Given the description of an element on the screen output the (x, y) to click on. 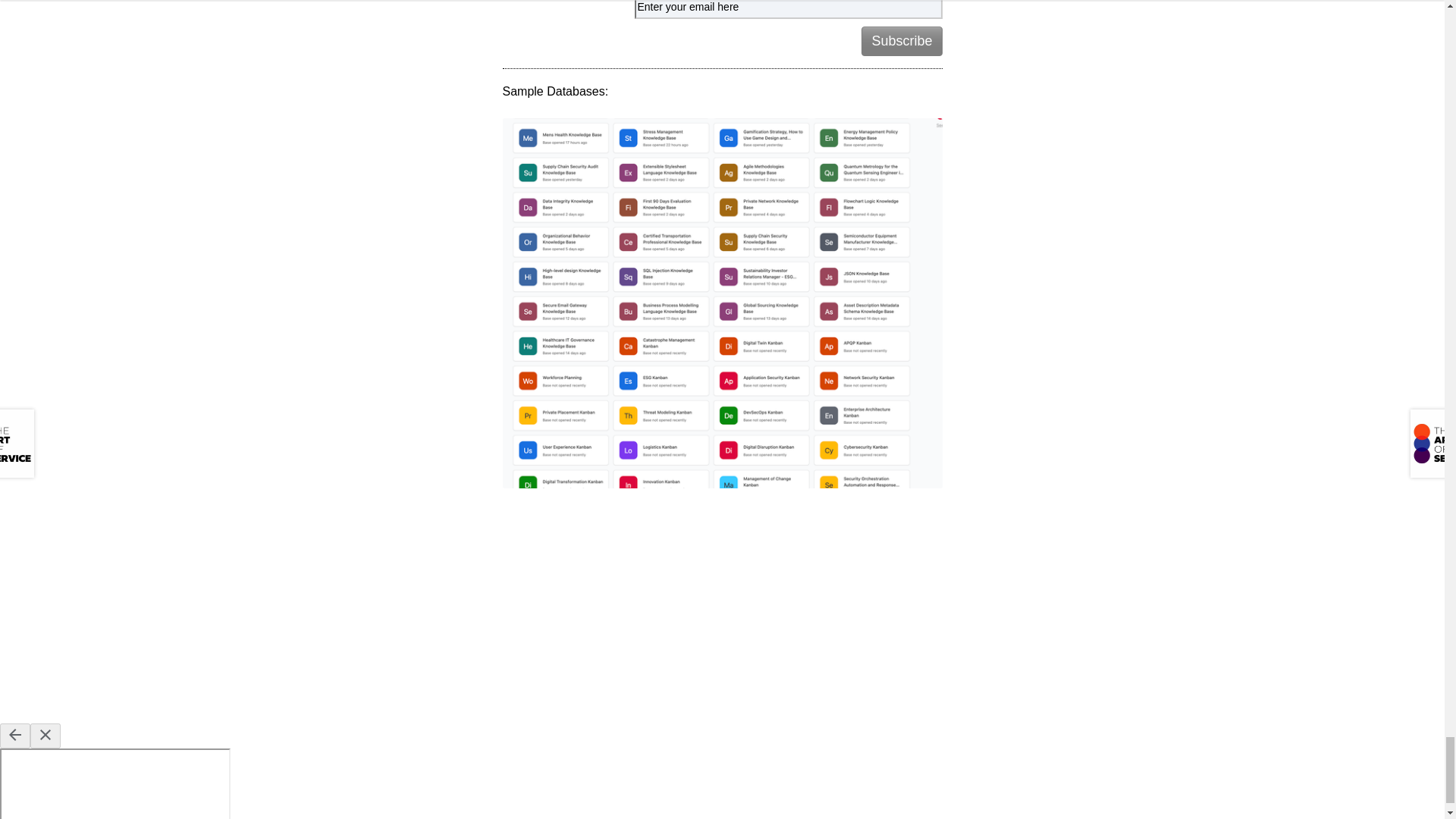
Subscribe (901, 41)
Enter your email here (787, 9)
